Given the description of an element on the screen output the (x, y) to click on. 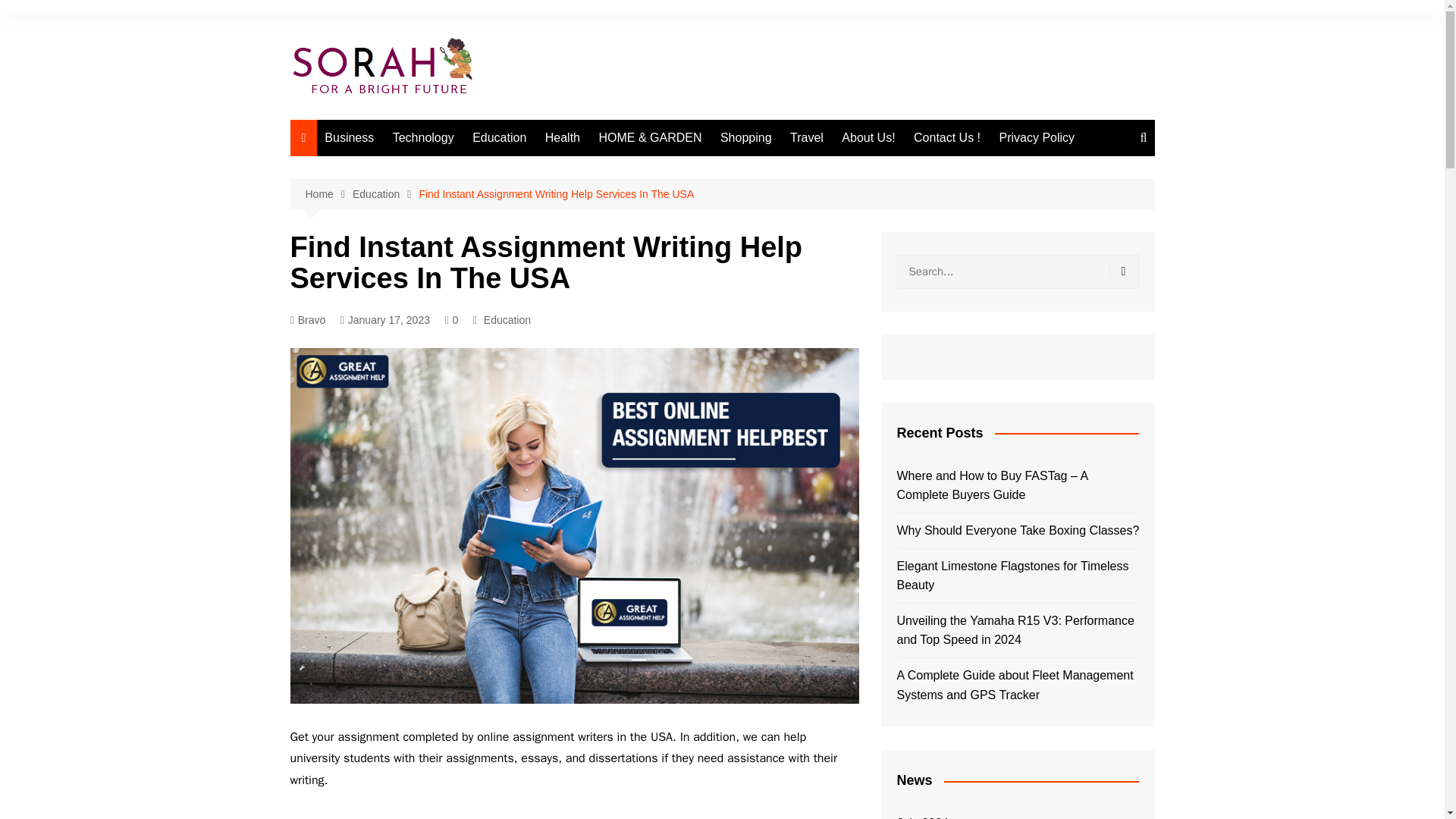
Bravo (306, 320)
Health (562, 137)
Home (328, 194)
Contact Us ! (946, 137)
Education (385, 194)
Travel (807, 137)
Privacy Policy (1037, 137)
Education (499, 137)
Education (507, 320)
Find Instant Assignment Writing Help Services In The USA (556, 193)
January 17, 2023 (384, 320)
Business (349, 137)
Shopping (745, 137)
About Us! (868, 137)
Technology (423, 137)
